Given the description of an element on the screen output the (x, y) to click on. 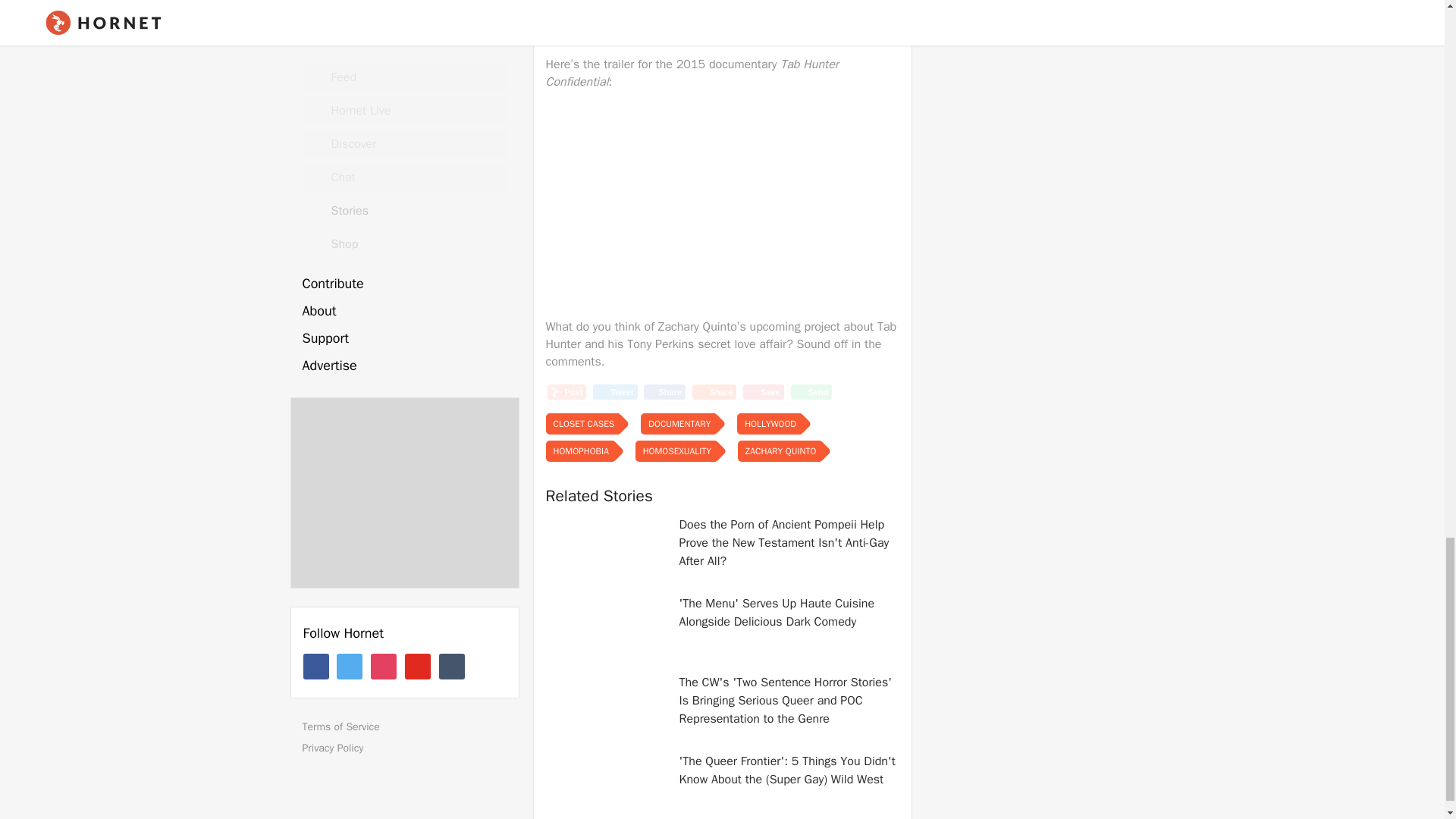
Save (763, 391)
Post (566, 391)
Share (714, 391)
Share (664, 391)
Send (811, 391)
Tweet (614, 391)
